Given the description of an element on the screen output the (x, y) to click on. 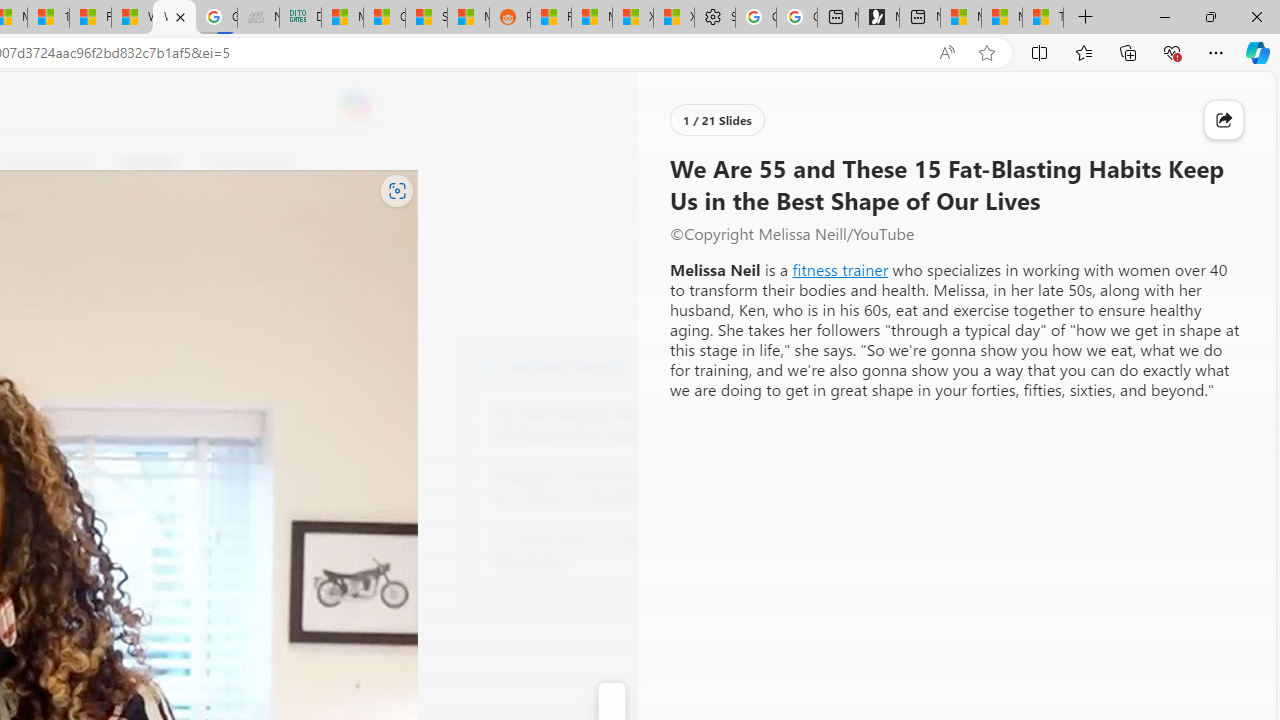
Open settings (1231, 105)
Food & Drink (249, 162)
